Given the description of an element on the screen output the (x, y) to click on. 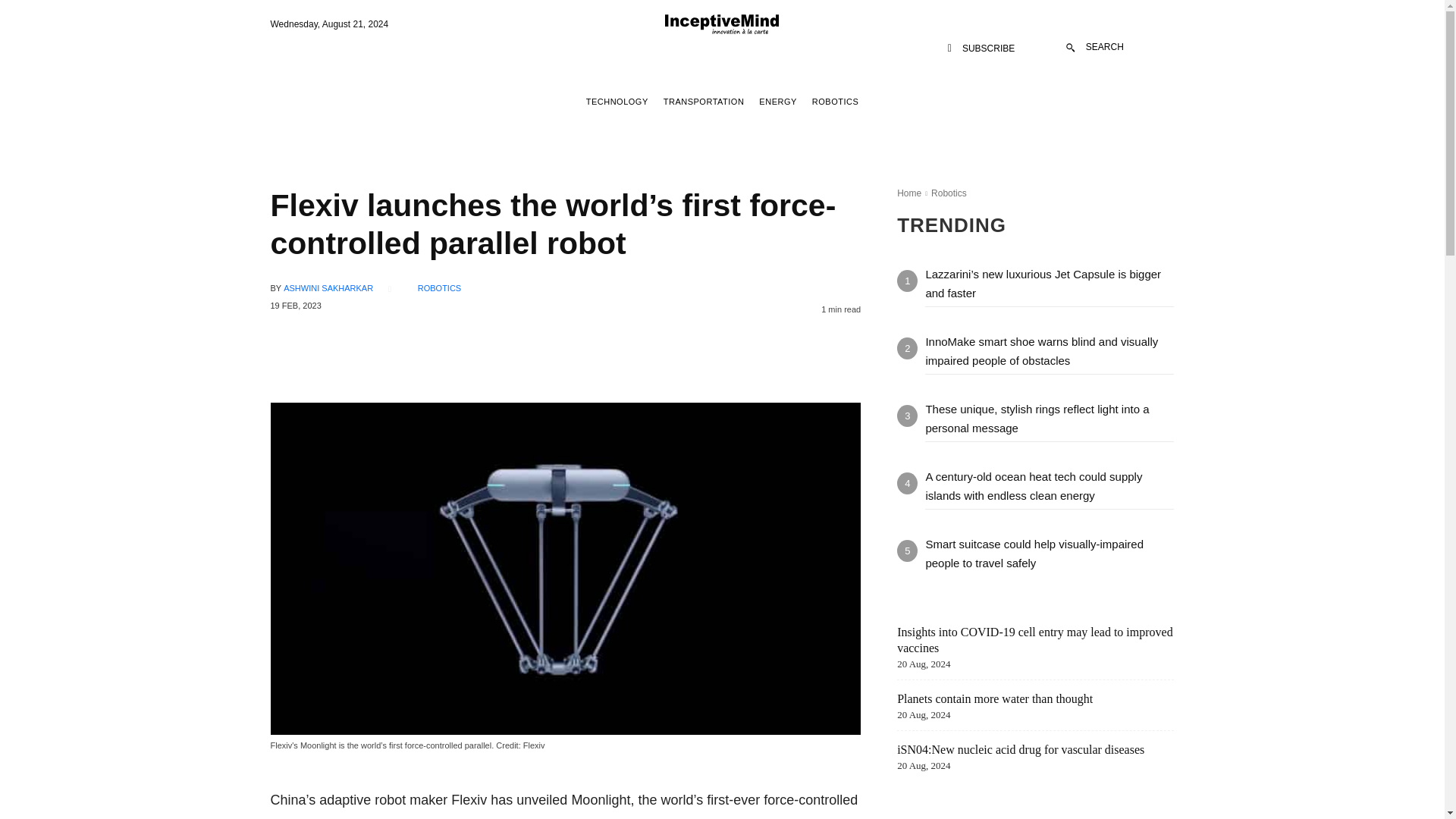
SEARCH (1094, 46)
SUBSCRIBE (980, 48)
ROBOTICS (834, 101)
SEARCH (1094, 46)
SUBSCRIBE (980, 48)
